Given the description of an element on the screen output the (x, y) to click on. 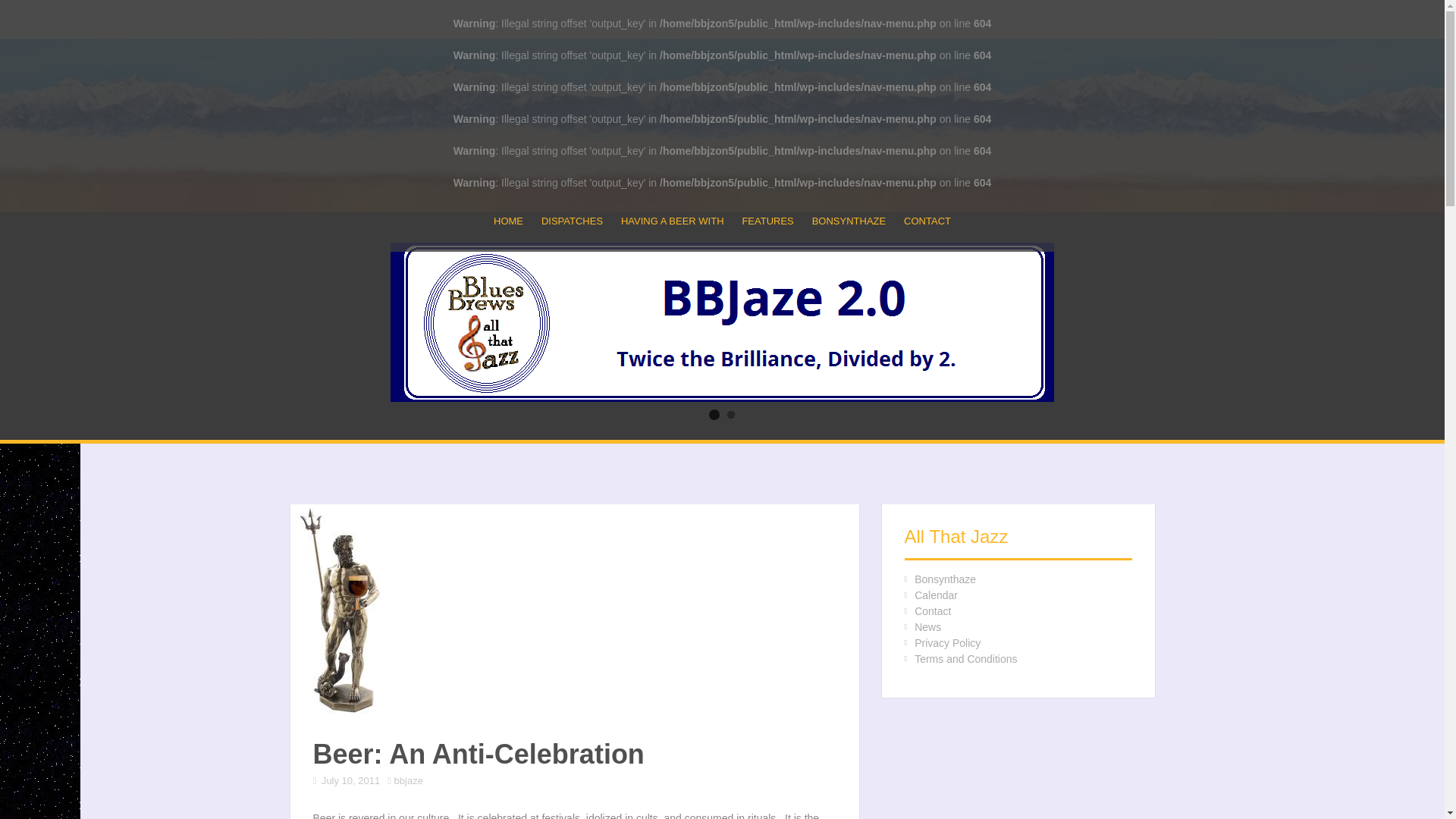
Contact (932, 611)
July 10, 2011 (350, 780)
Terms and Conditions (965, 658)
BONSYNTHAZE (849, 221)
bbjaze (408, 780)
CONTACT (927, 221)
HOME (507, 221)
DISPATCHES (571, 221)
FEATURES (767, 221)
News (927, 626)
Privacy Policy (946, 643)
HAVING A BEER WITH (672, 221)
Bonsynthaze (944, 579)
Calendar (936, 594)
